Given the description of an element on the screen output the (x, y) to click on. 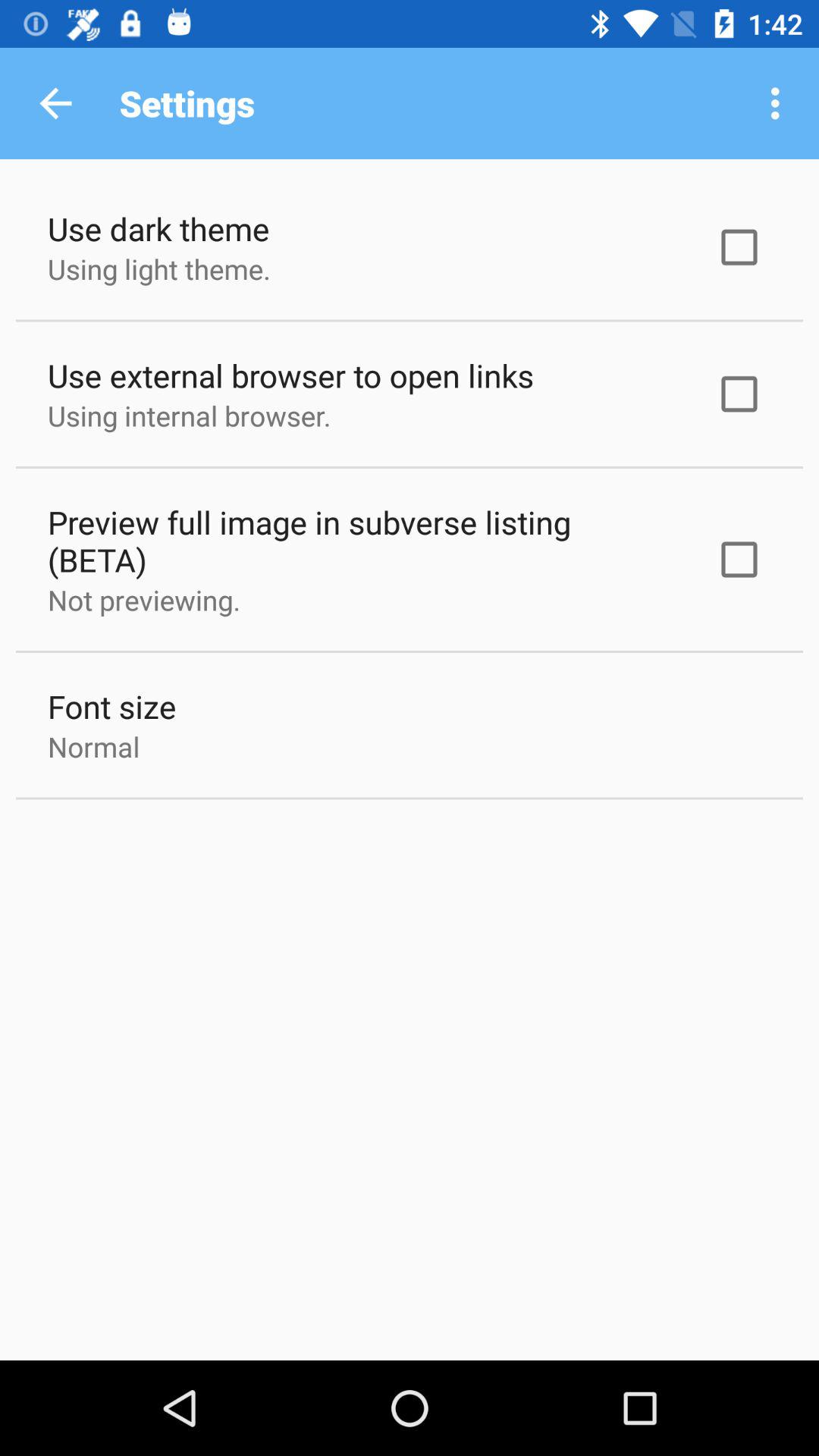
jump to the preview full image icon (361, 540)
